Given the description of an element on the screen output the (x, y) to click on. 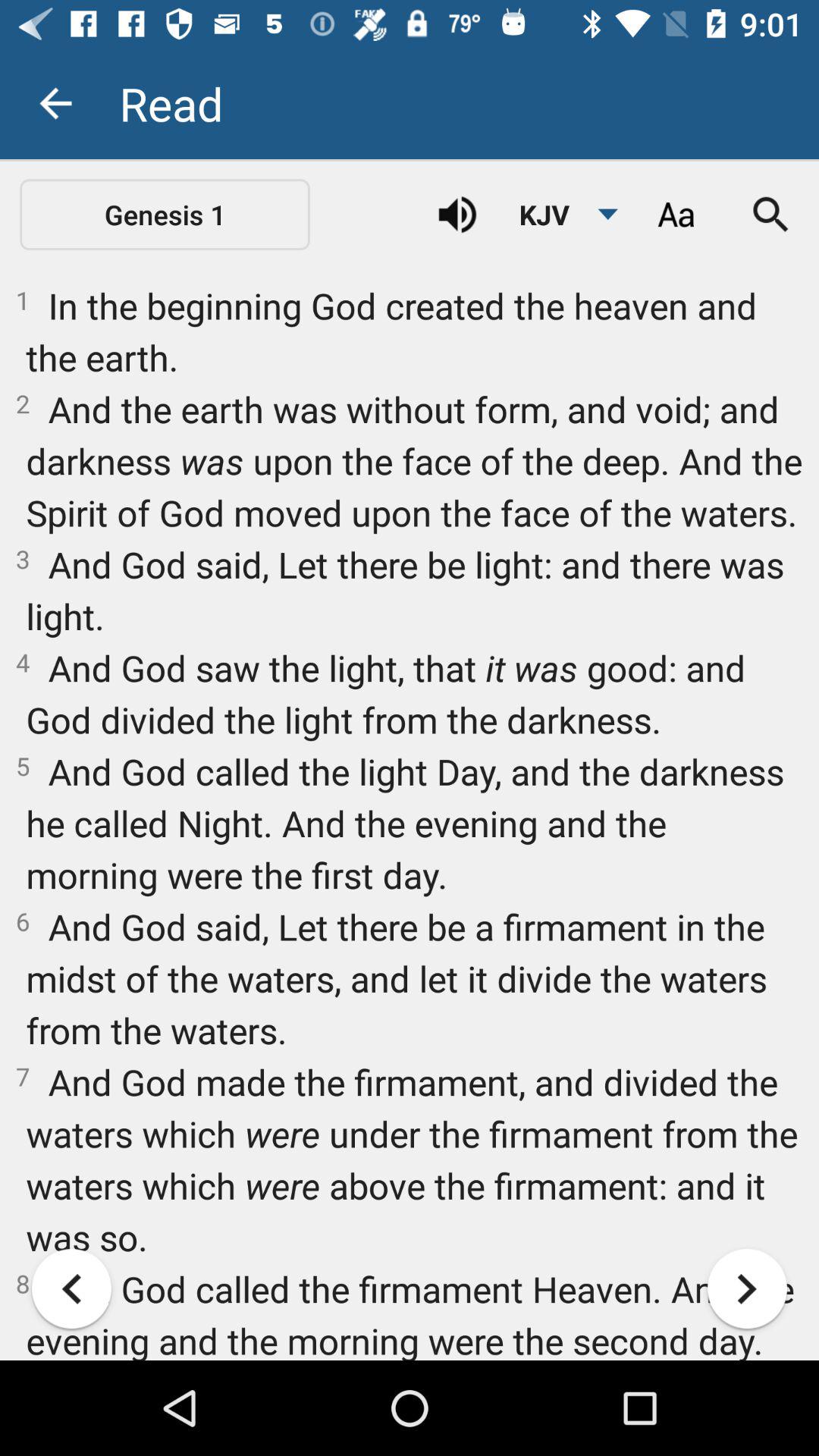
choose font (675, 214)
